Given the description of an element on the screen output the (x, y) to click on. 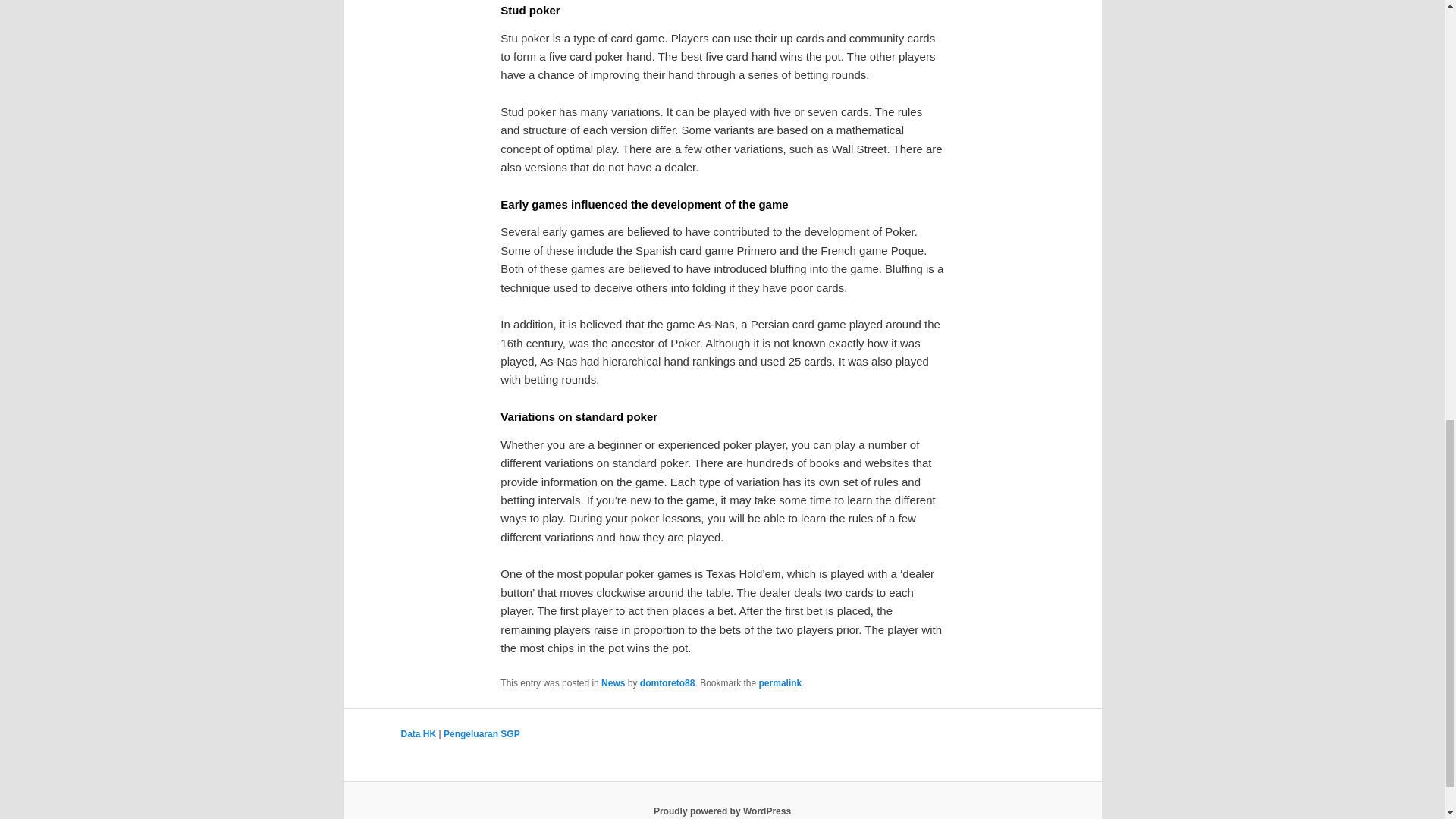
permalink (780, 683)
Data HK (417, 733)
domtoreto88 (667, 683)
Proudly powered by WordPress (721, 810)
Permalink to The Different Types of Poker Games (780, 683)
News (612, 683)
Semantic Personal Publishing Platform (721, 810)
Pengeluaran SGP (481, 733)
